Given the description of an element on the screen output the (x, y) to click on. 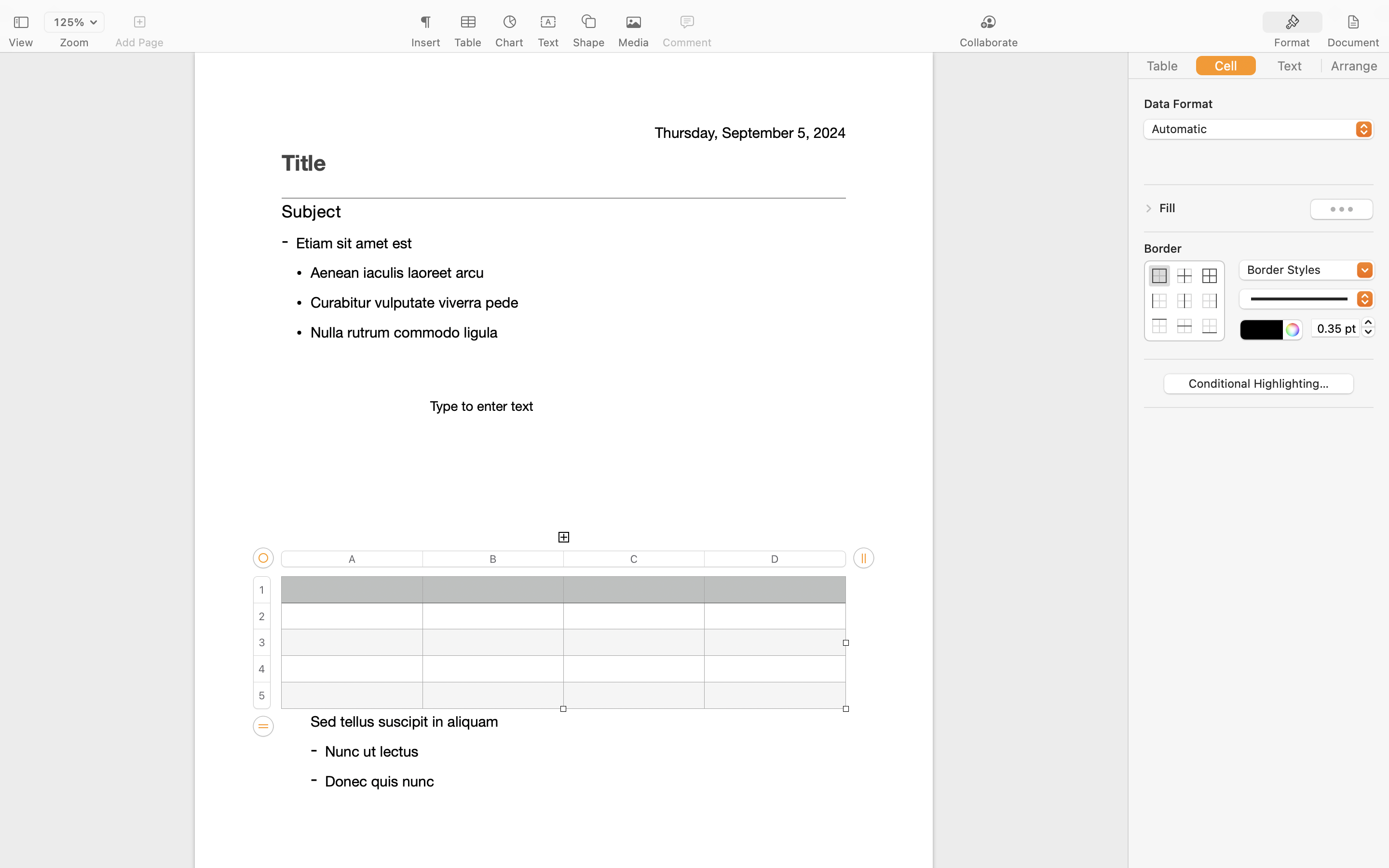
Border Element type: AXStaticText (1184, 248)
Automatic Element type: AXPopUpButton (1259, 130)
<AXUIElement 0x17fd06aa0> {pid=1482} Element type: AXRadioGroup (1258, 65)
Format Element type: AXStaticText (1291, 42)
Data Format Element type: AXStaticText (1258, 103)
